Given the description of an element on the screen output the (x, y) to click on. 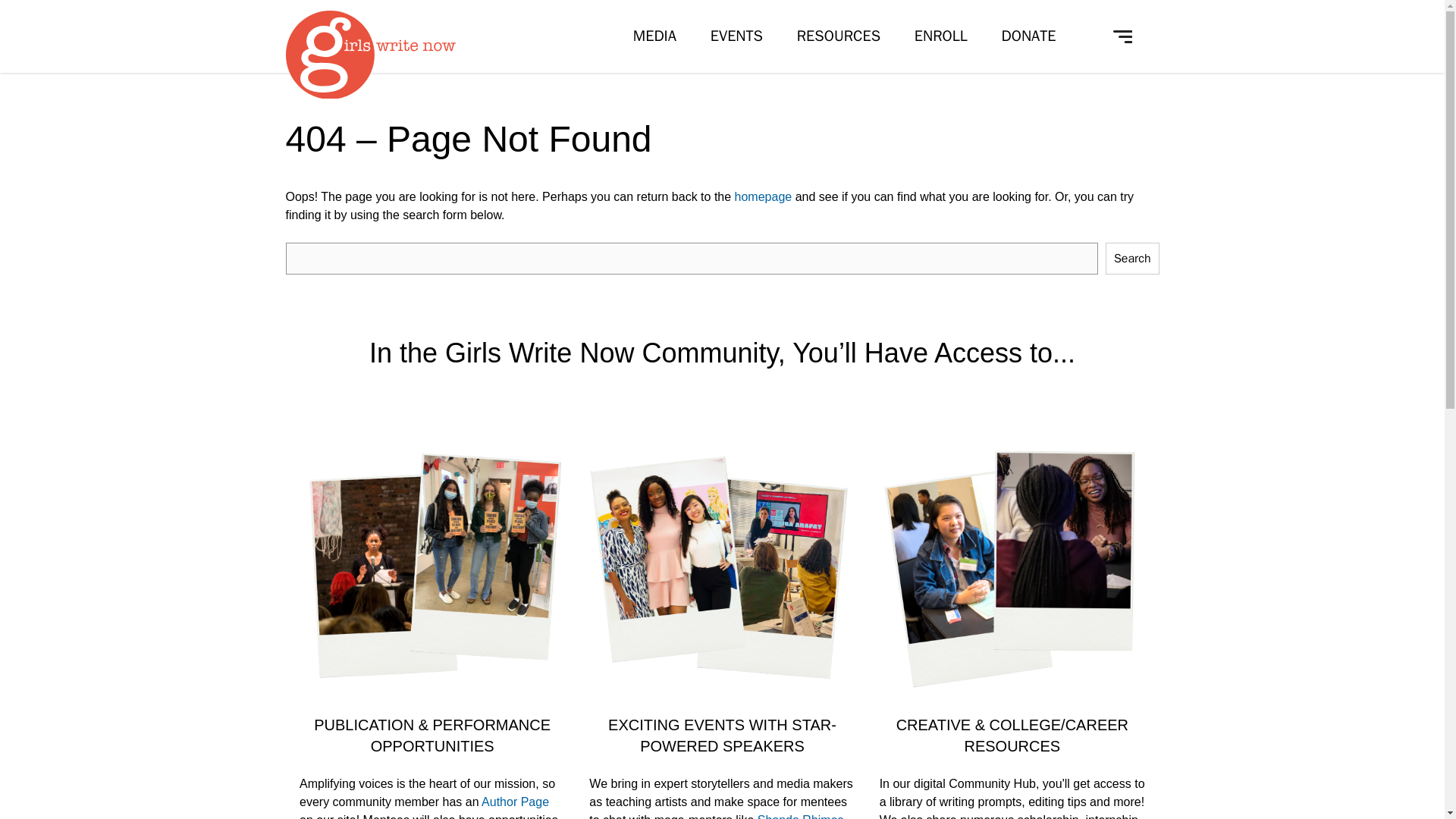
Search (514, 590)
DONATE (1029, 35)
MEDIA (655, 35)
EVENTS (736, 35)
ENROLL (941, 35)
RESOURCES (838, 35)
